Given the description of an element on the screen output the (x, y) to click on. 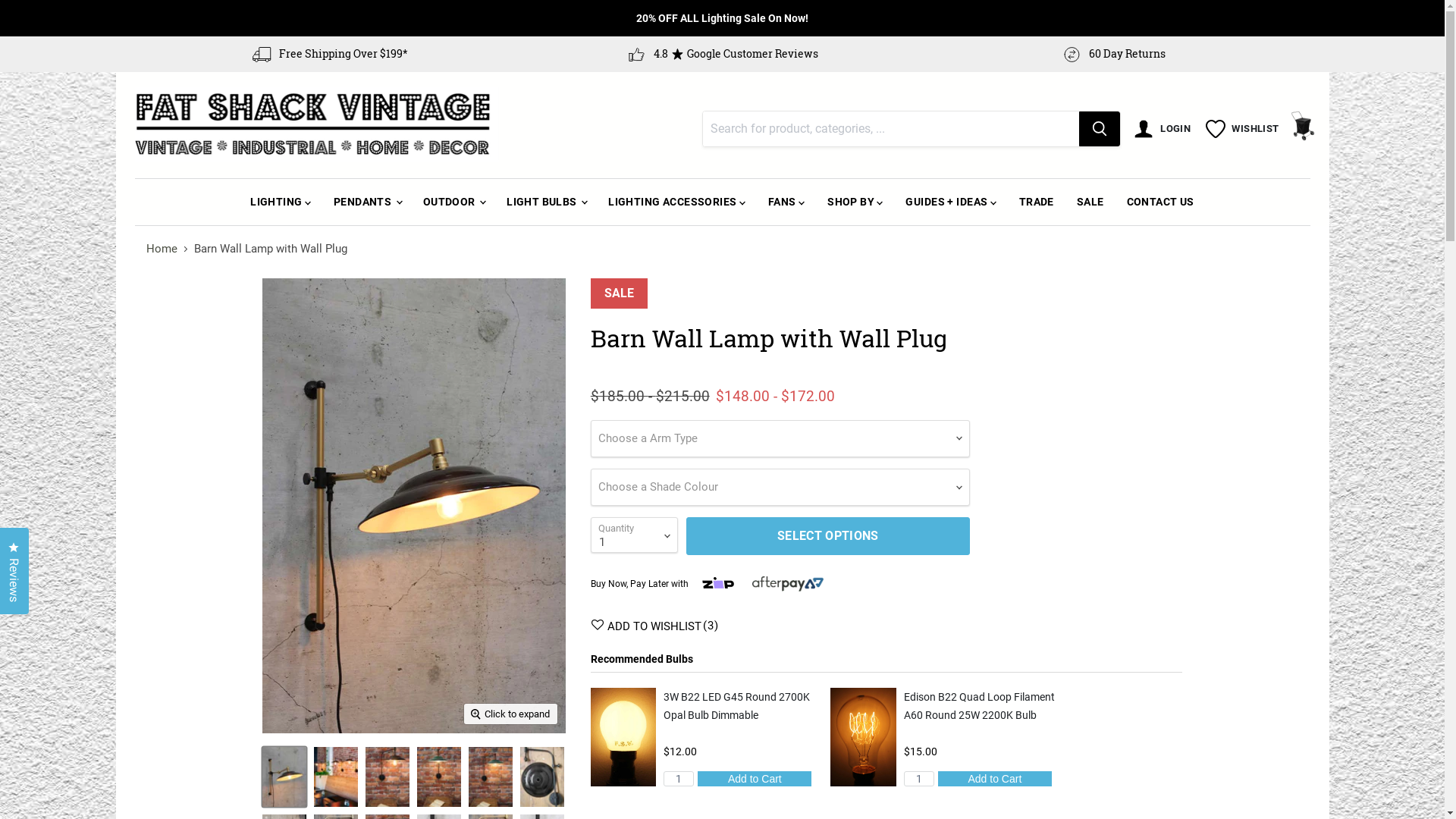
SELECT OPTIONS Element type: text (827, 535)
LOGIN Element type: text (1164, 128)
CONTACT US Element type: text (1160, 201)
Add to Cart Element type: text (754, 778)
Home Element type: text (160, 248)
SALE Element type: text (1090, 201)
3W B22 LED G45 Round 2700K Opal Bulb Dimmable Element type: text (736, 705)
Learn more about zip Element type: hover (718, 582)
  WISHLIST Element type: text (1241, 128)
TRADE Element type: text (1036, 201)
Edison B22 Quad Loop Filament A60 Round 25W 2200K Bulb Element type: text (978, 705)
View cart Element type: text (1302, 128)
Click to expand Element type: text (510, 713)
Add to Cart Element type: text (994, 778)
Learn more about AfterPay Element type: hover (787, 583)
